Given the description of an element on the screen output the (x, y) to click on. 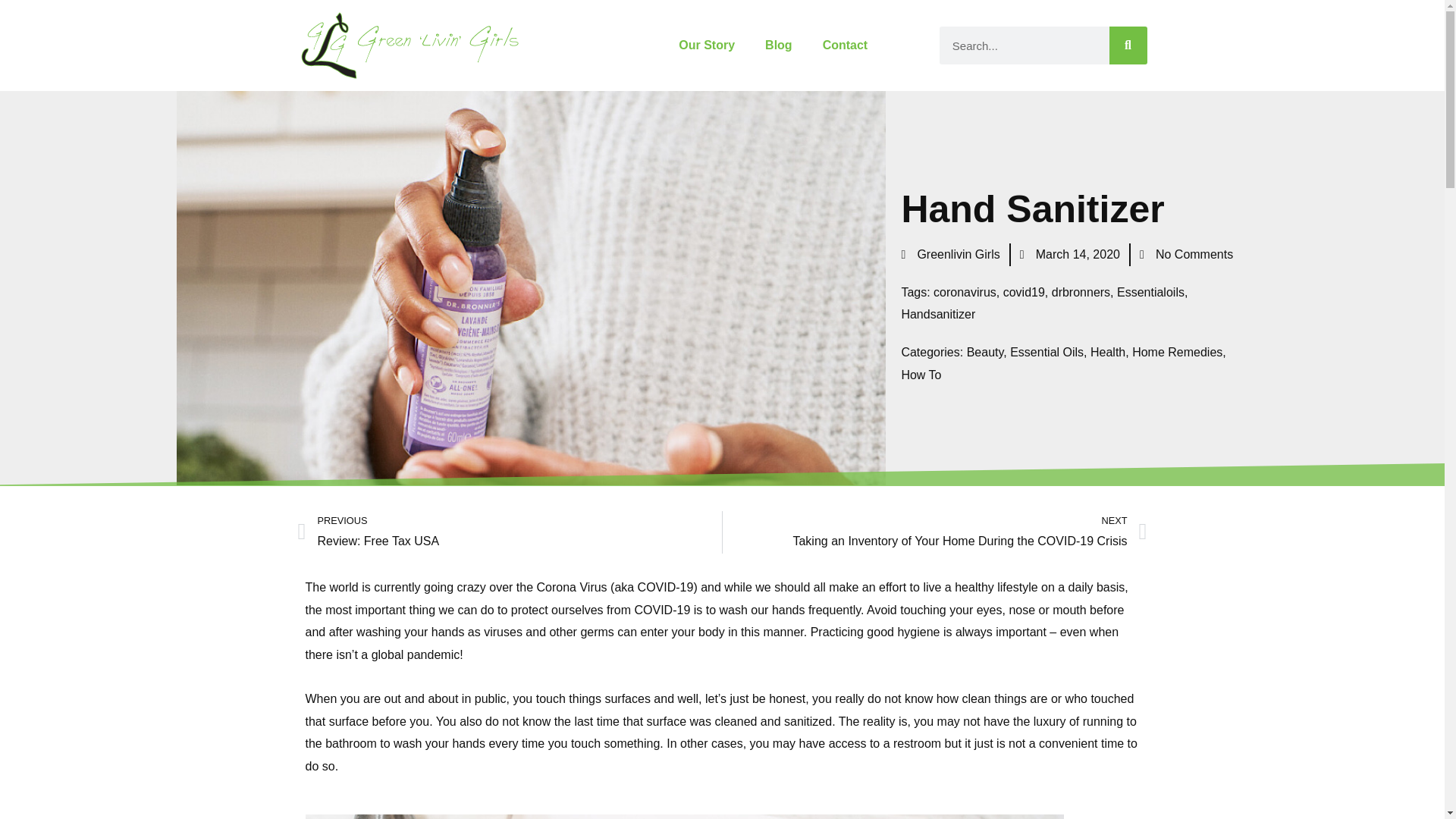
Beauty (985, 351)
Contact (845, 45)
March 14, 2020 (1069, 254)
How To (920, 374)
Greenlivin Girls (949, 254)
No Comments (1186, 254)
coronavirus (964, 291)
covid19 (1024, 291)
drbronners (1080, 291)
